Given the description of an element on the screen output the (x, y) to click on. 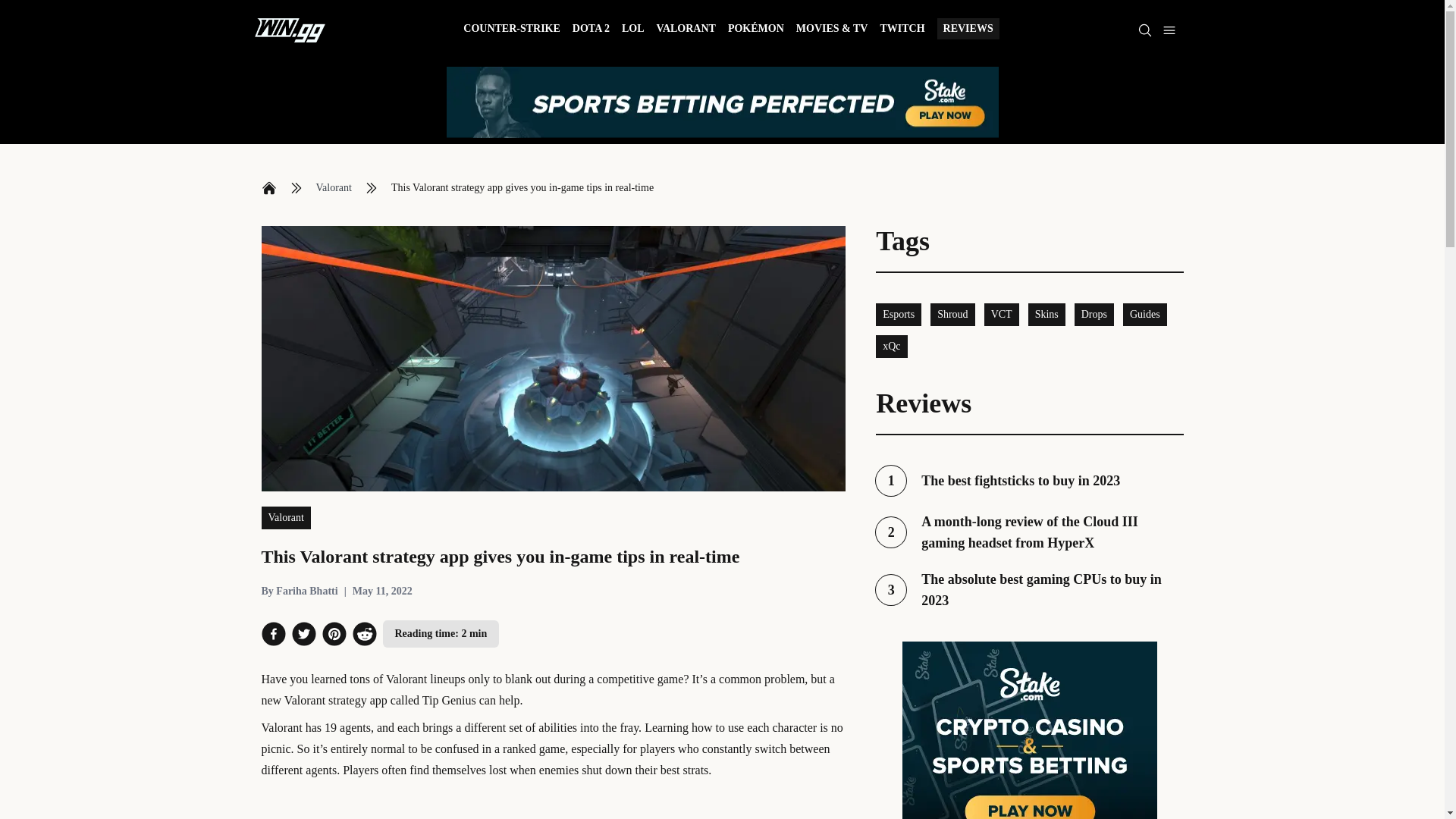
Esports (898, 314)
Home (1029, 481)
xQc (268, 187)
Drops (891, 345)
Learning how to use each character (1093, 314)
VALORANT (730, 727)
Valorant (686, 30)
Guides (332, 187)
Skins (1144, 314)
COUNTER-STRIKE (1046, 314)
Viper Fracture (511, 30)
REVIEWS (298, 590)
